Given the description of an element on the screen output the (x, y) to click on. 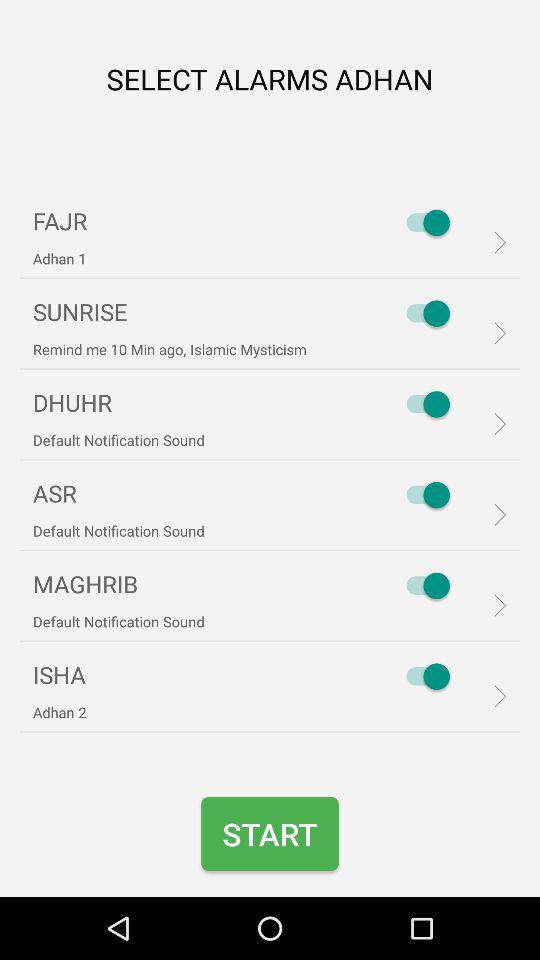
click item to the right of the default notification sound icon (423, 585)
